Given the description of an element on the screen output the (x, y) to click on. 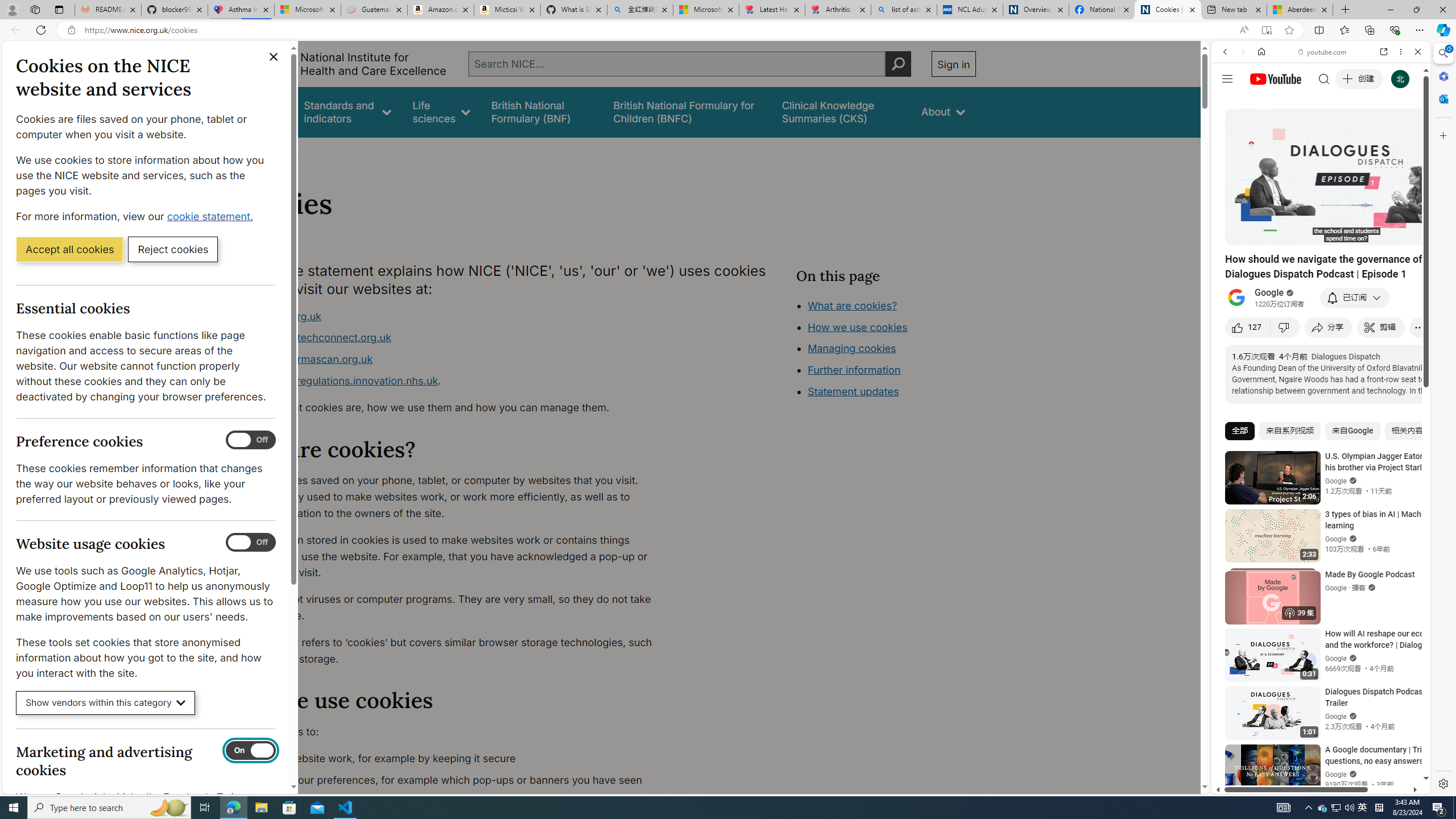
make our website work, for example by keeping it secure (452, 759)
How we use cookies (896, 389)
Further information (854, 369)
Guidance (260, 111)
About (283, 152)
Preference cookies (250, 439)
www.digitalregulations.innovation.nhs.uk. (452, 380)
